Given the description of an element on the screen output the (x, y) to click on. 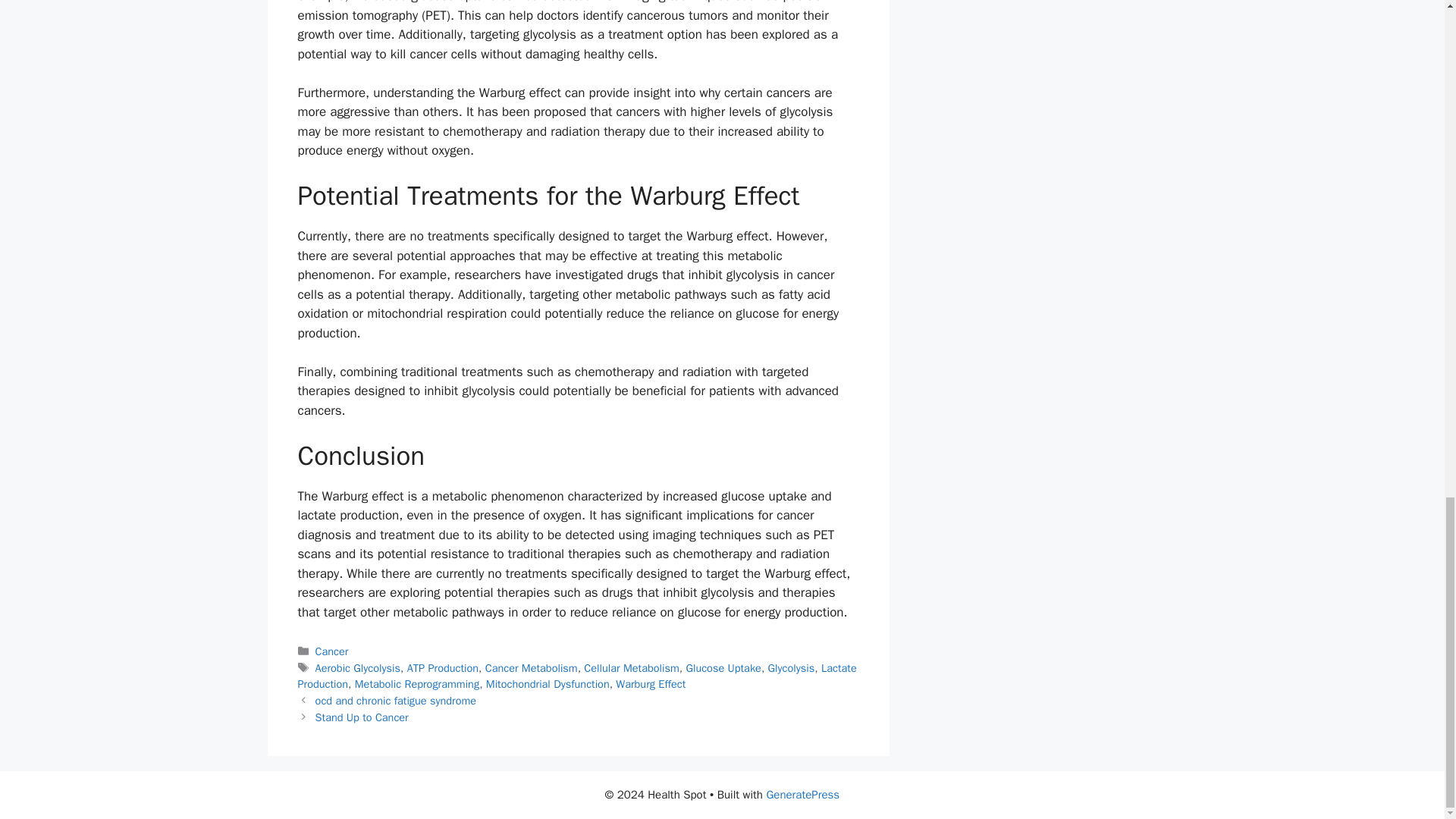
Mitochondrial Dysfunction (548, 684)
Glucose Uptake (722, 667)
Aerobic Glycolysis (357, 667)
Metabolic Reprogramming (417, 684)
ocd and chronic fatigue syndrome (396, 700)
Stand Up to Cancer (362, 716)
Warburg Effect (650, 684)
Glycolysis (791, 667)
Cellular Metabolism (630, 667)
Lactate Production (576, 675)
Cancer Metabolism (531, 667)
Cancer (332, 651)
ATP Production (443, 667)
GeneratePress (802, 794)
